Given the description of an element on the screen output the (x, y) to click on. 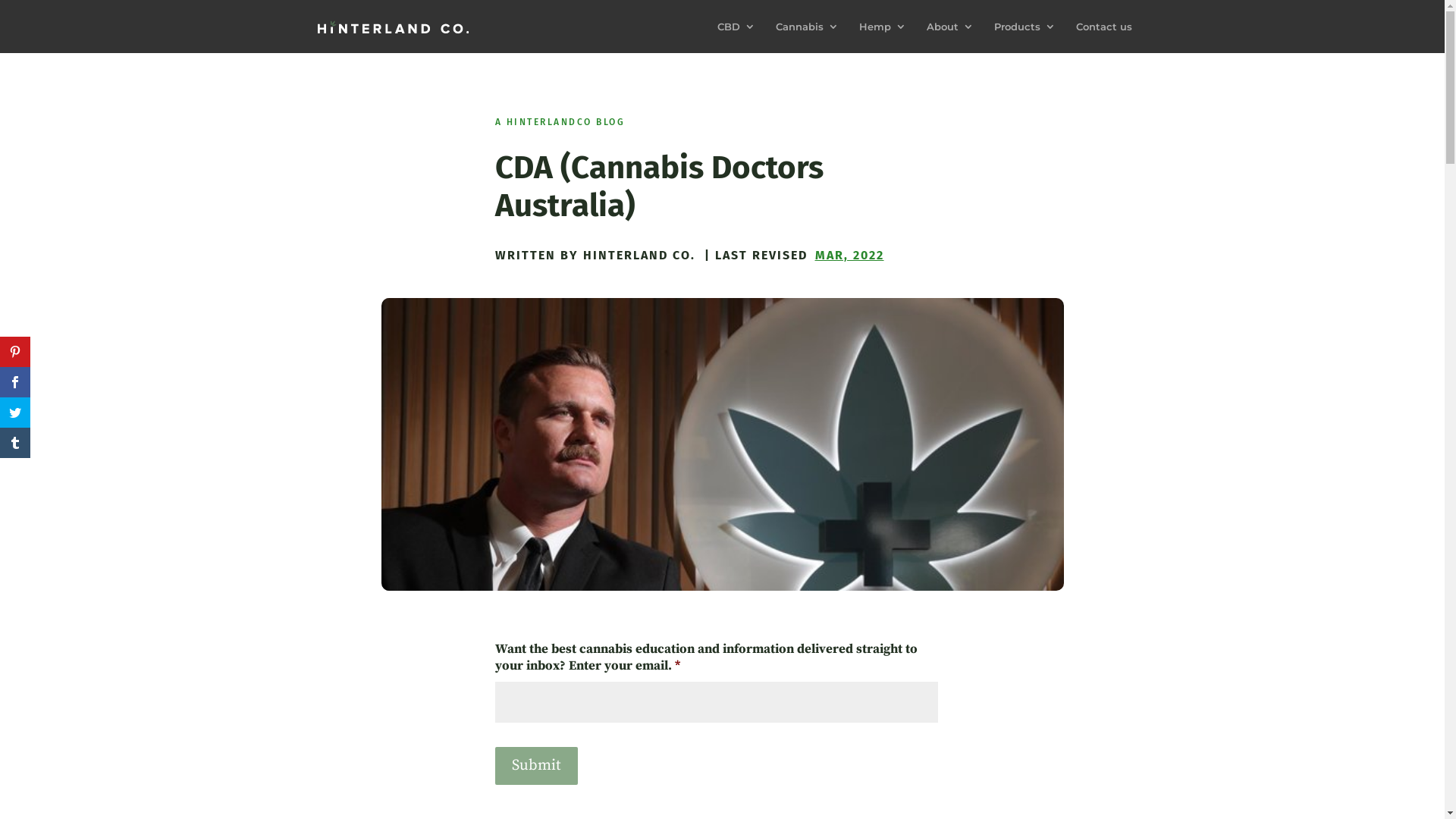
Hemp Element type: text (881, 37)
CBD Element type: text (736, 37)
Contact us Element type: text (1103, 37)
Cannabis Element type: text (806, 37)
rsz_1cannabis_doctors_australia_dr_ben Element type: hover (721, 444)
Submit Element type: text (535, 765)
A HINTERLANDCO BLOG Element type: text (559, 121)
Products Element type: text (1023, 37)
About Element type: text (949, 37)
